Given the description of an element on the screen output the (x, y) to click on. 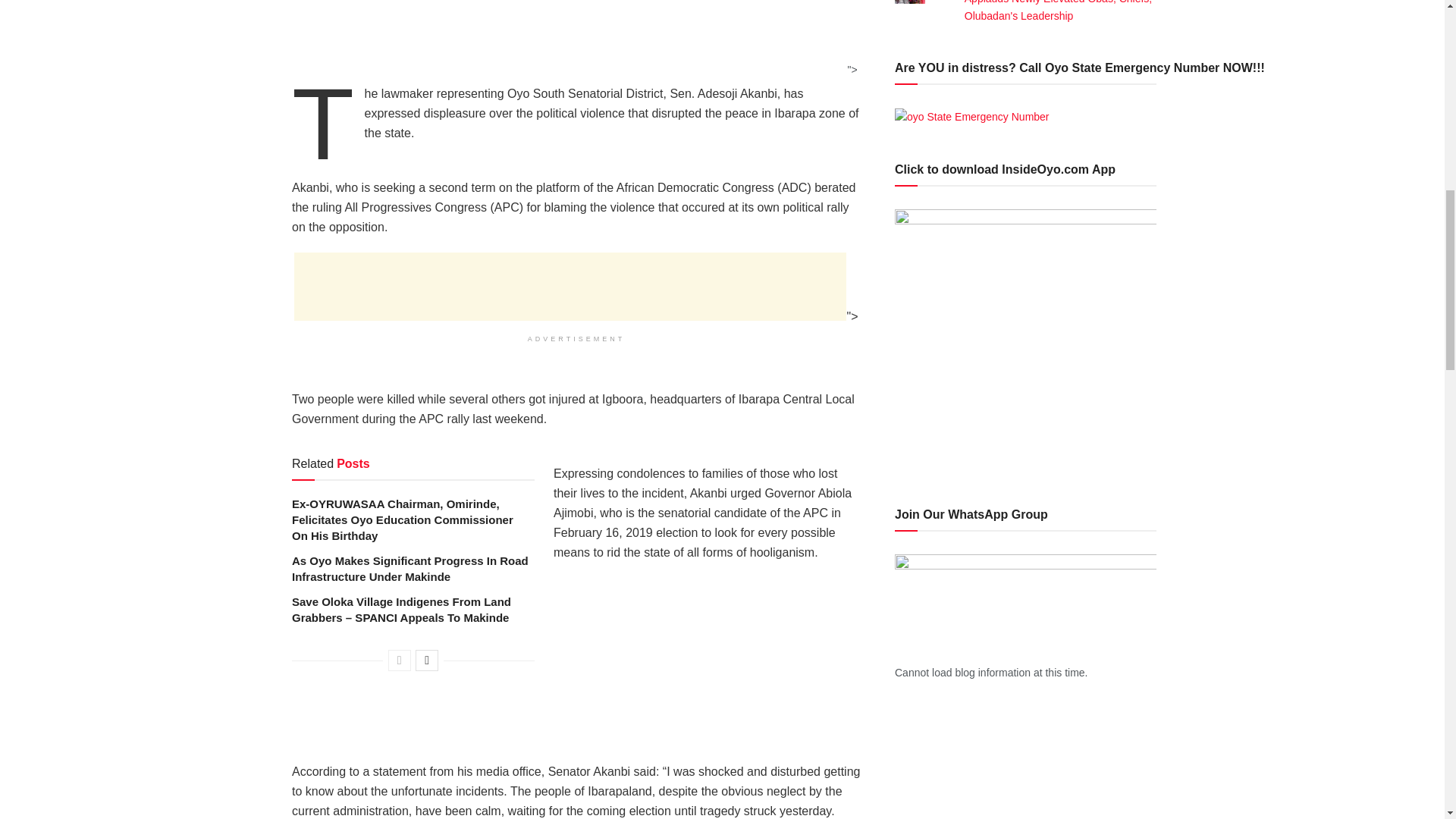
Next (426, 660)
Are YOU in distress? Call Oyo State Emergency Number NOW!!! (972, 116)
Previous (399, 660)
